Given the description of an element on the screen output the (x, y) to click on. 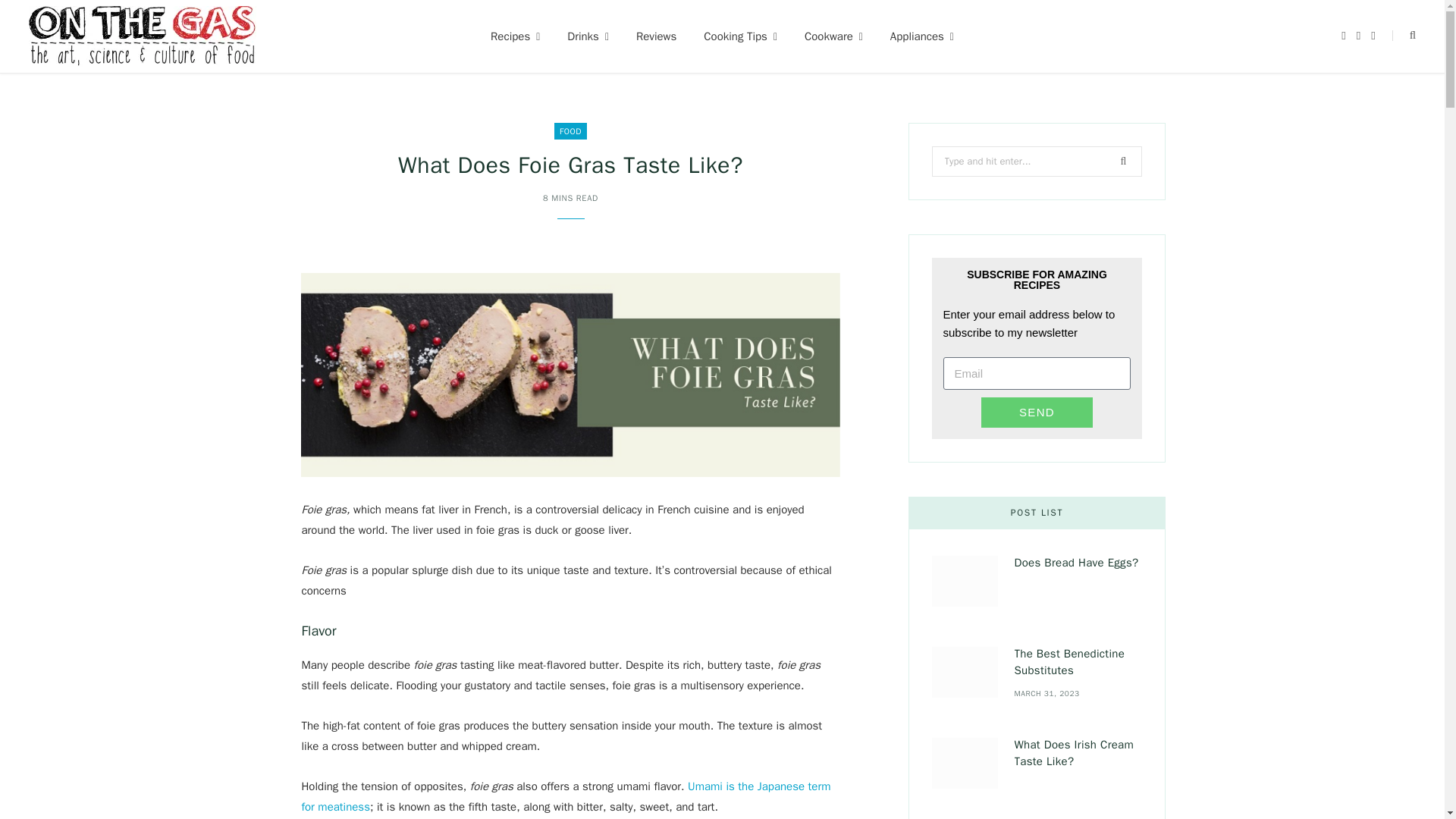
FOOD (570, 130)
Appliances (922, 36)
Recipes (515, 36)
Drinks (588, 36)
Search (1403, 36)
Pinterest (1372, 35)
The Best Benedictine Substitutes (964, 672)
Cooking Tips (740, 36)
Search for: (1036, 161)
Cookware (833, 36)
Instagram (1357, 35)
Umami is the Japanese term for meatiness (565, 796)
Facebook (1342, 35)
Reviews (656, 36)
